Given the description of an element on the screen output the (x, y) to click on. 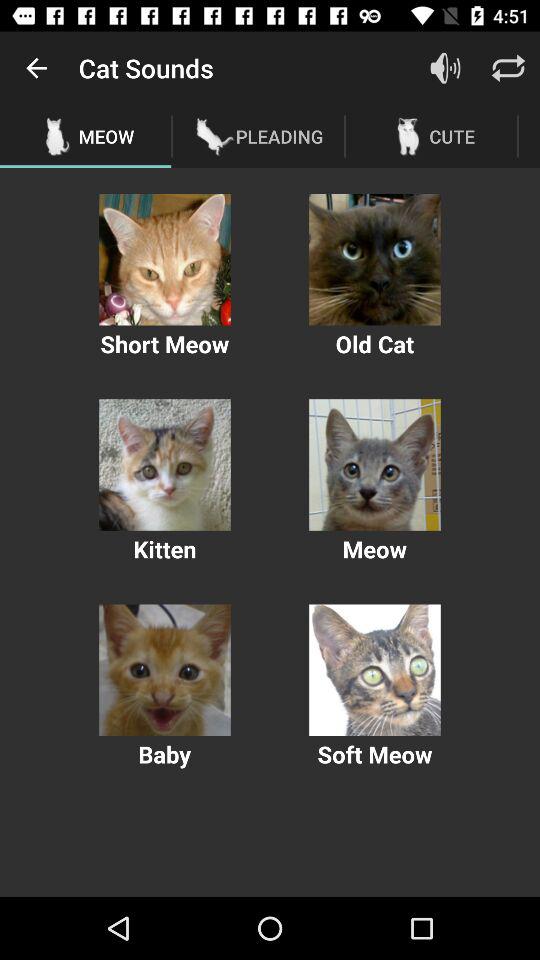
plays the sound of a kitten (164, 464)
